Given the description of an element on the screen output the (x, y) to click on. 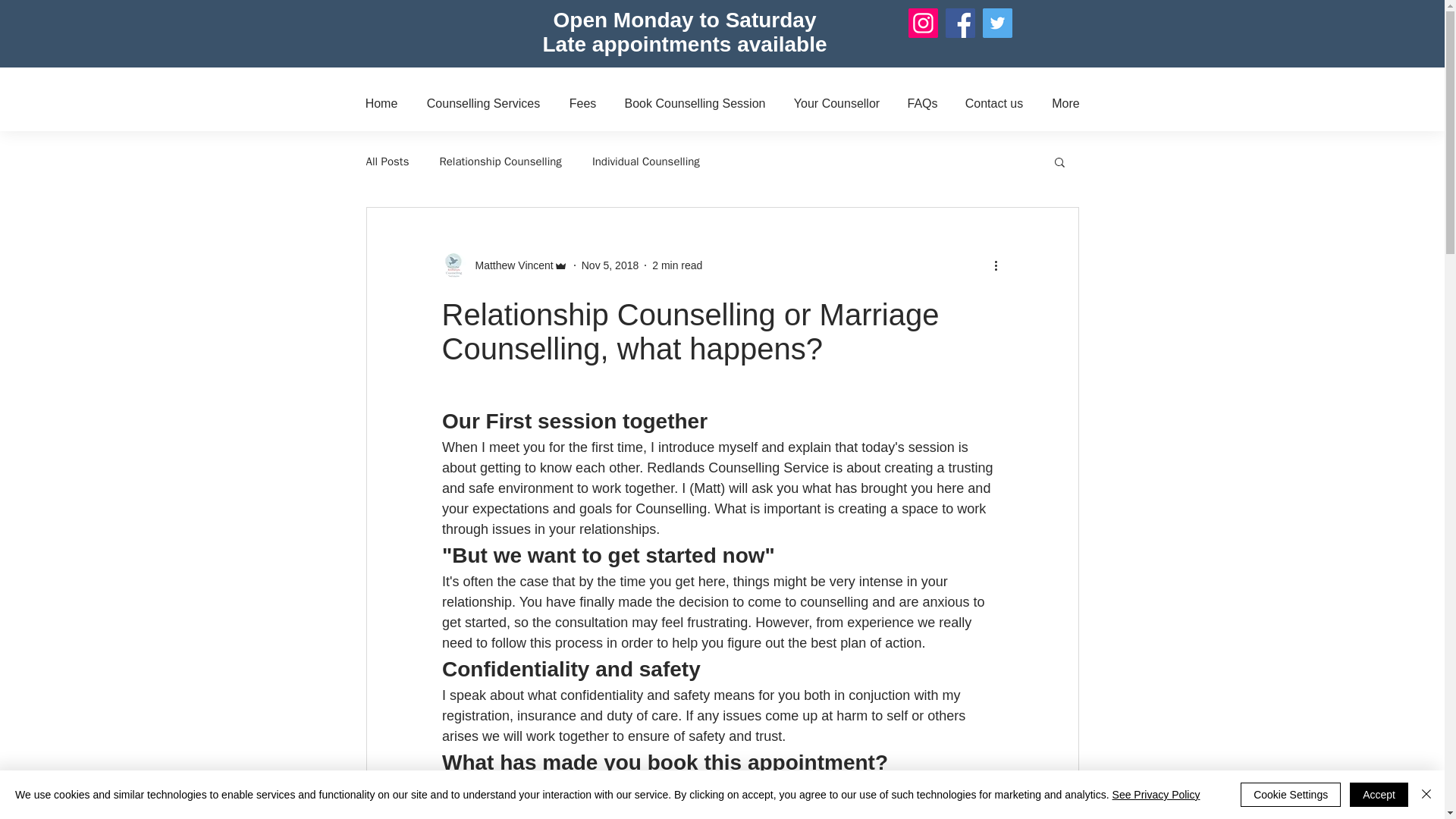
Counselling Services (483, 102)
Your Counsellor (836, 102)
Relationship Counselling (499, 161)
All Posts (387, 161)
Matthew Vincent (504, 265)
2 min read (676, 265)
Book Counselling Session (694, 102)
Contact us (994, 102)
Fees (582, 102)
Nov 5, 2018 (609, 265)
